Given the description of an element on the screen output the (x, y) to click on. 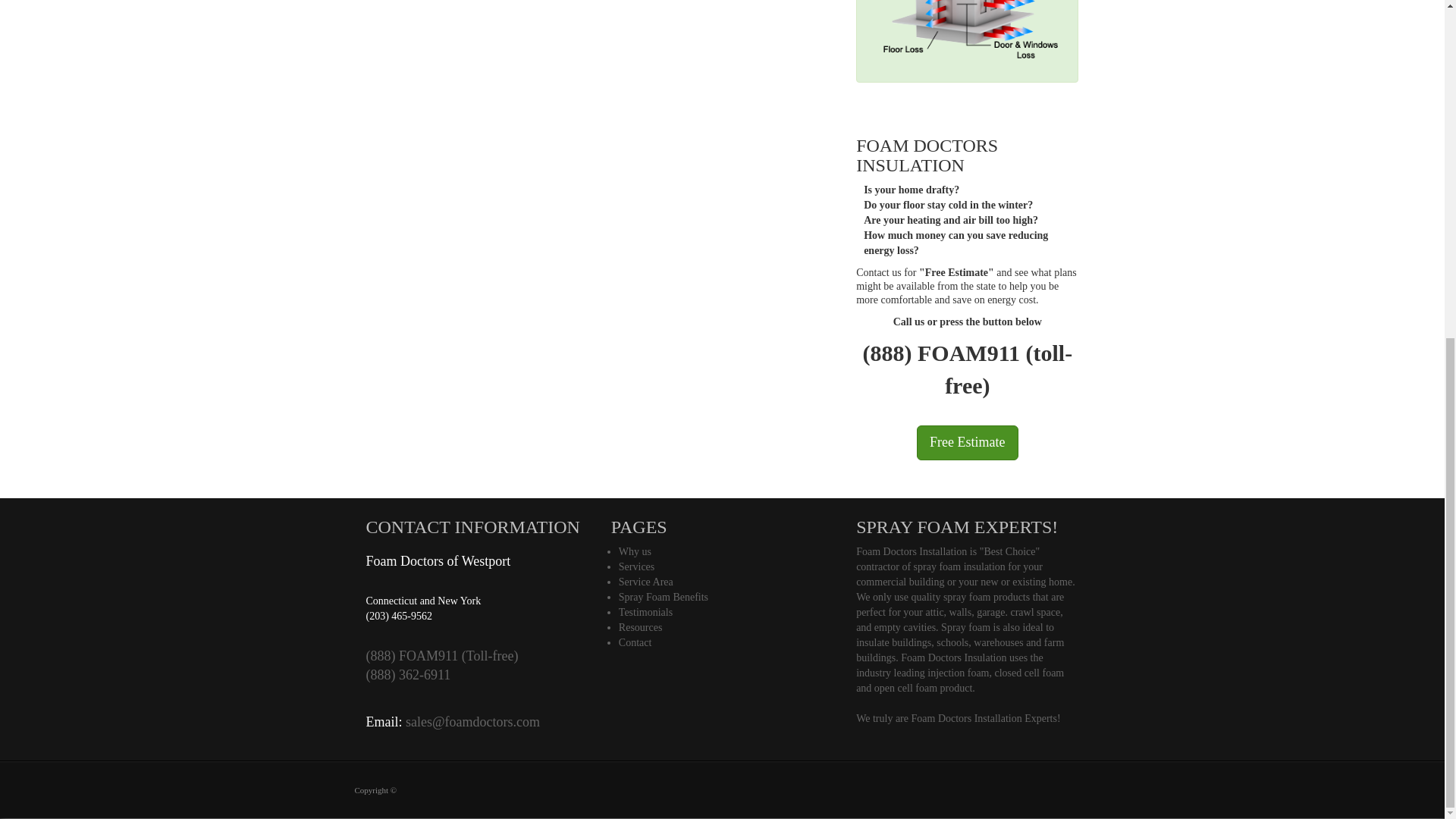
Services (635, 566)
Resources (640, 627)
Service Area (645, 582)
Free Estimate (967, 442)
Spray Foam Benefits (662, 596)
Why us (634, 551)
Testimonials (645, 612)
Free Estimate (967, 442)
Contact (635, 642)
